Given the description of an element on the screen output the (x, y) to click on. 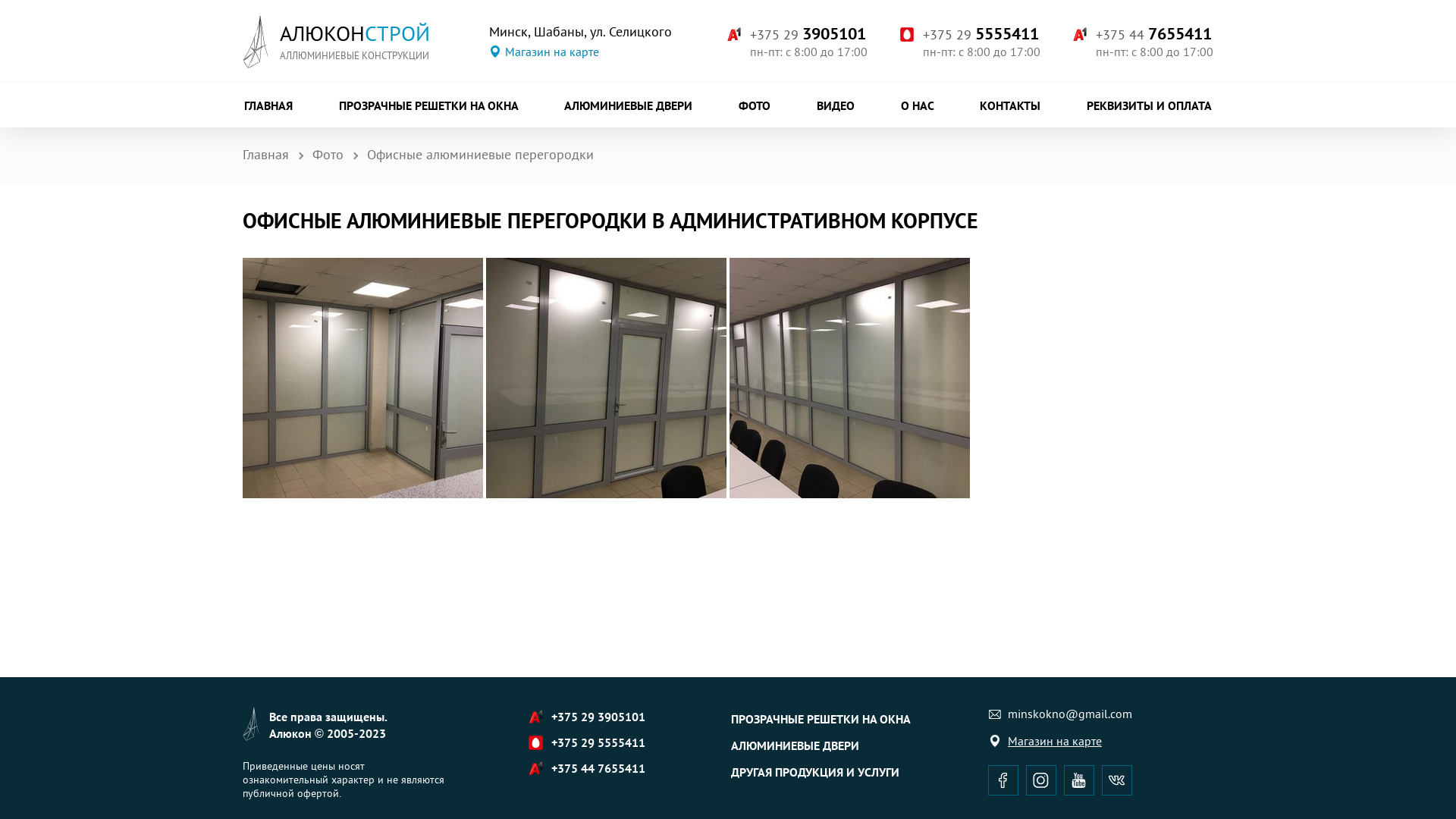
+375 29 3905101 Element type: text (807, 33)
+375 29 5555411 Element type: text (980, 33)
+375 29 3905101 Element type: text (598, 715)
+375 44 7655411 Element type: text (598, 767)
+375 44 7655411 Element type: text (1153, 33)
minskokno@gmail.com Element type: text (1060, 713)
+375 29 5555411 Element type: text (598, 741)
